Given the description of an element on the screen output the (x, y) to click on. 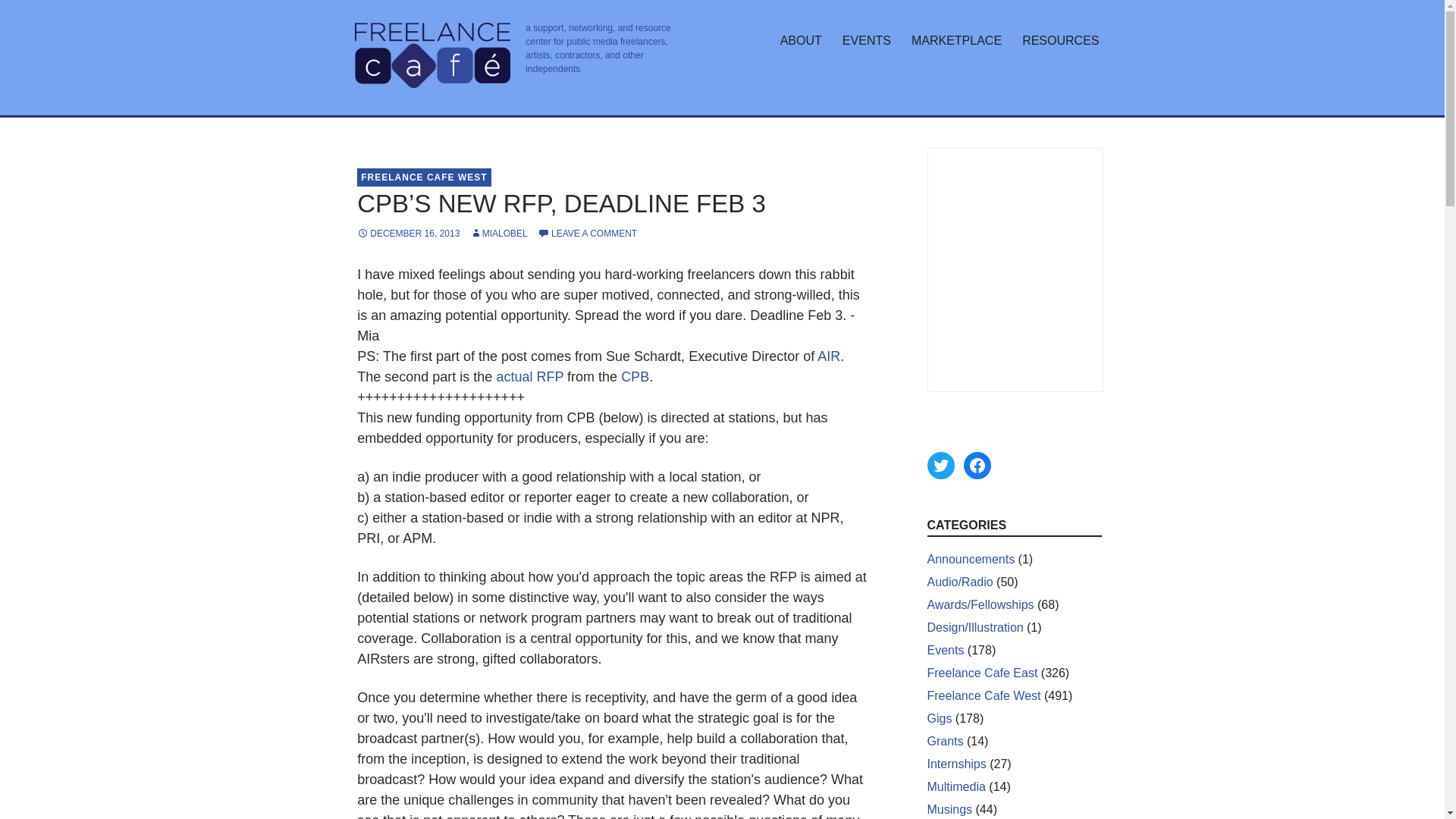
Grants (944, 740)
Freelance Cafe West (983, 695)
Freelance Cafe East (981, 672)
FREELANCE CAFE WEST (423, 177)
MARKETPLACE (956, 40)
RESOURCES (1060, 40)
DECEMBER 16, 2013 (408, 233)
AIR (828, 355)
Gigs (939, 717)
Facebook (976, 465)
